Given the description of an element on the screen output the (x, y) to click on. 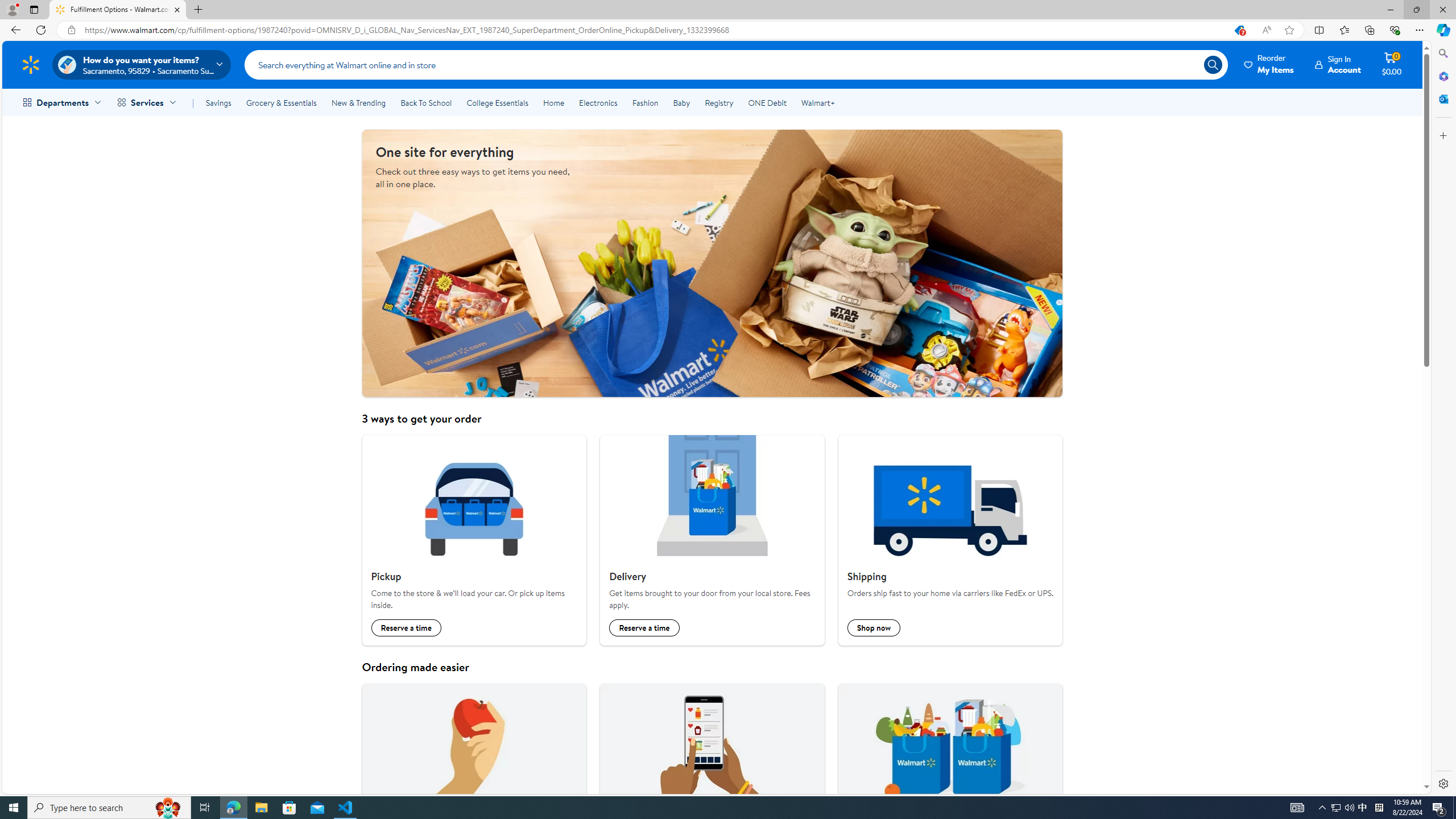
Electronics (598, 102)
This site has coupons! Shopping in Microsoft Edge, 7 (1239, 29)
